Given the description of an element on the screen output the (x, y) to click on. 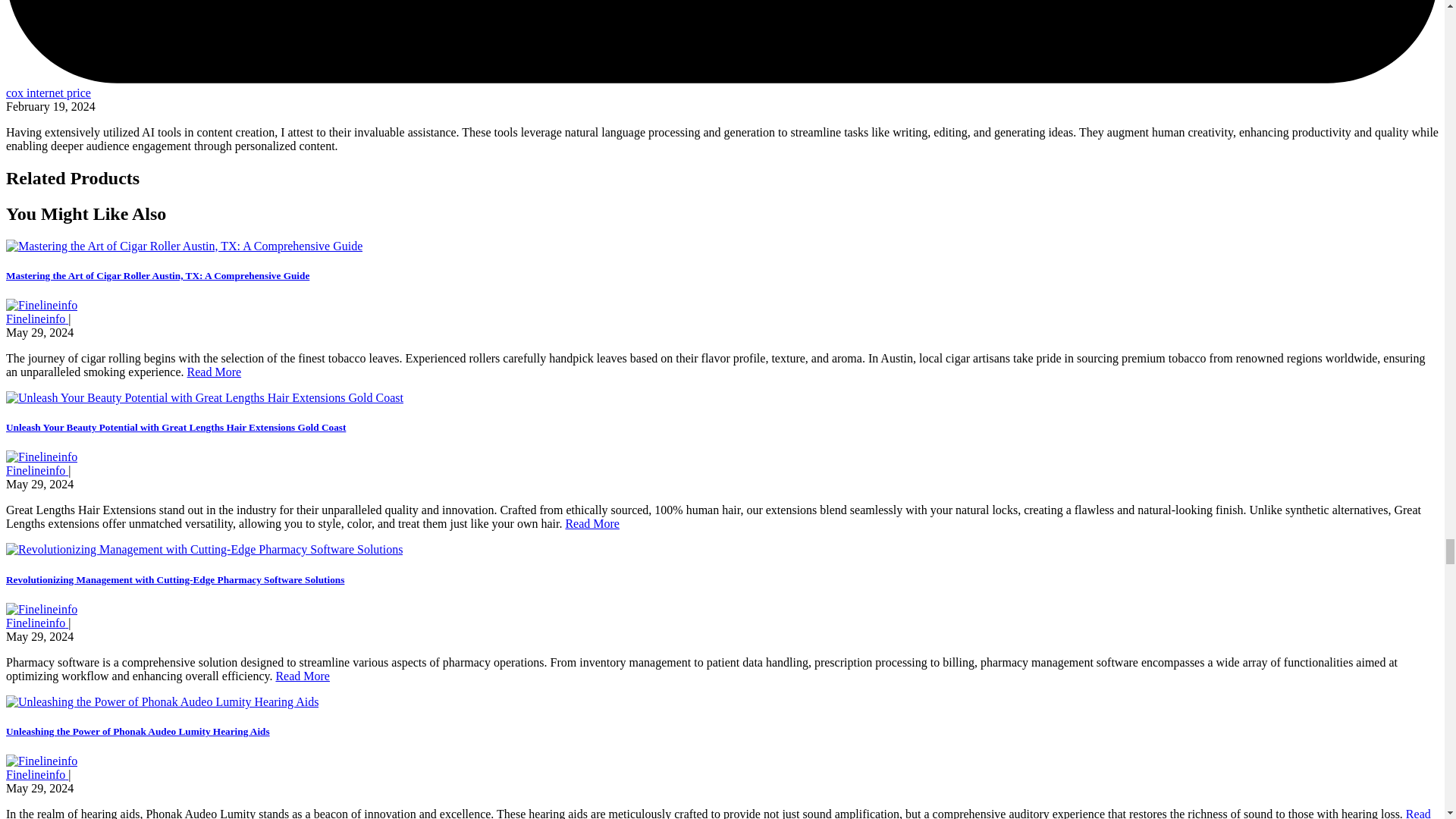
Unleashing the Power of Phonak Audeo Lumity Hearing Aids (137, 731)
Read More (214, 371)
Read More (592, 522)
Read More (302, 675)
